Given the description of an element on the screen output the (x, y) to click on. 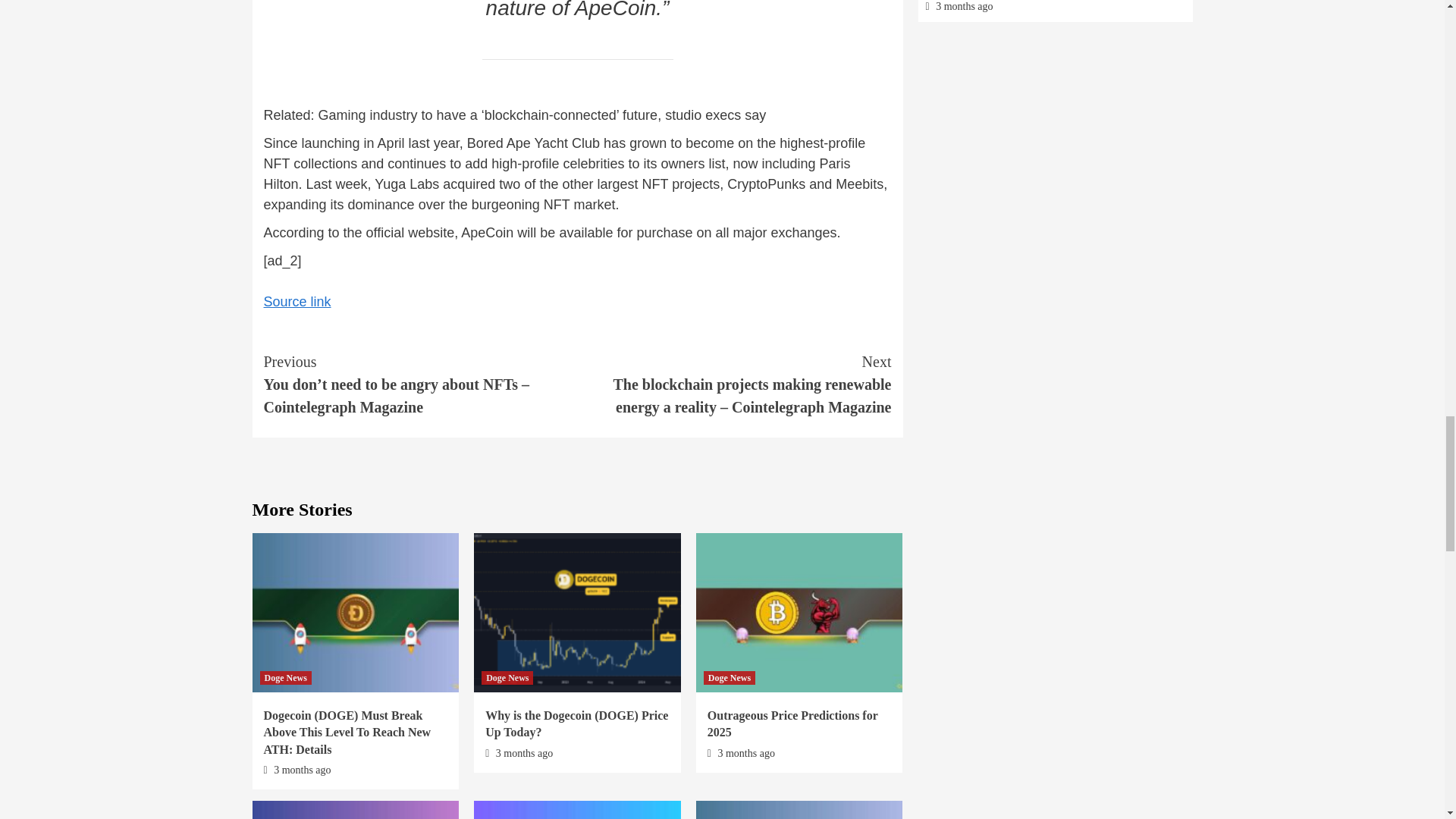
Source link (297, 301)
Doge News (285, 677)
